Given the description of an element on the screen output the (x, y) to click on. 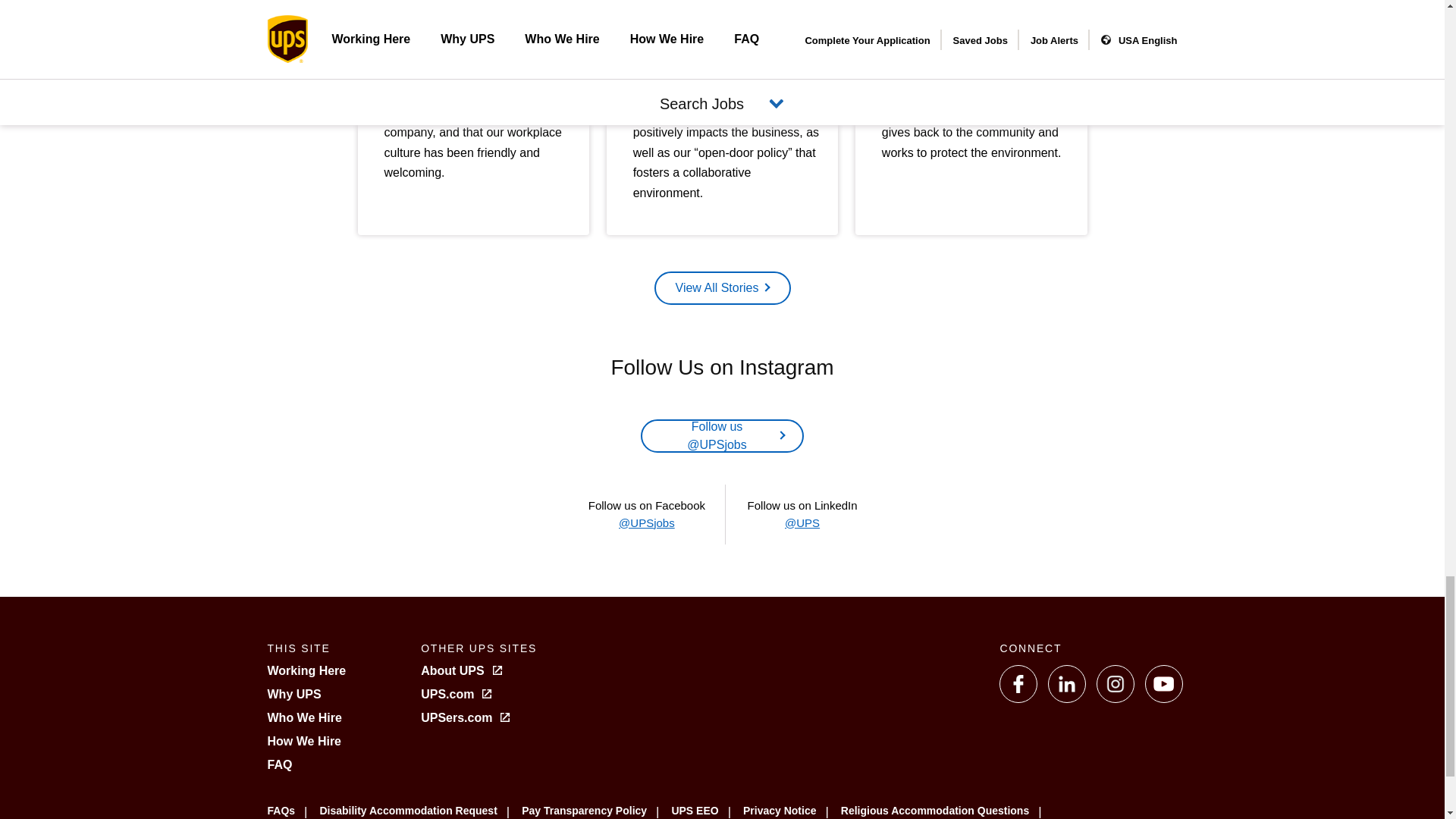
Working Here (306, 670)
